Given the description of an element on the screen output the (x, y) to click on. 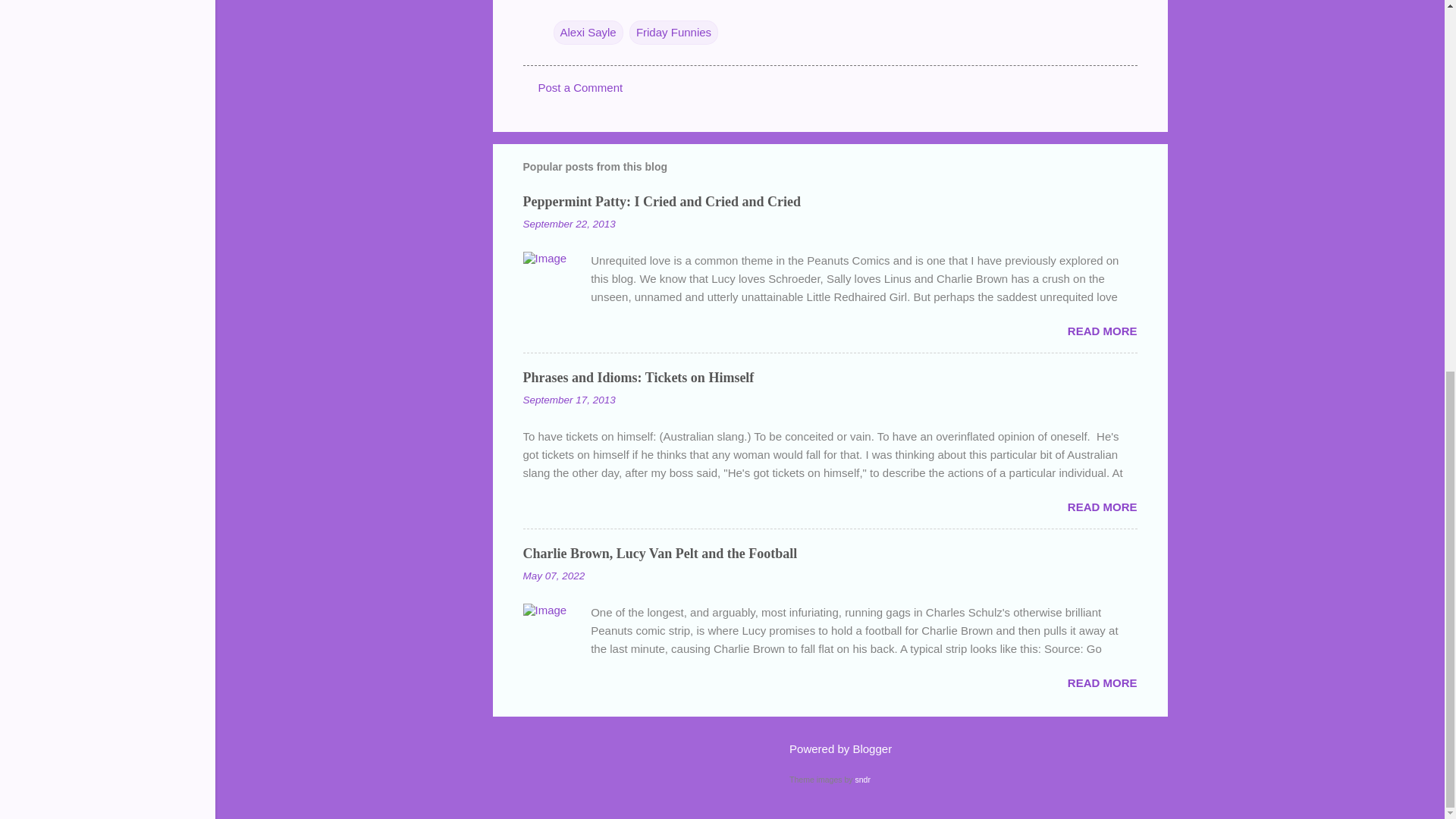
September 22, 2013 (568, 224)
Friday Funnies (672, 32)
READ MORE (1102, 330)
READ MORE (1102, 682)
READ MORE (1102, 506)
Peppermint Patty: I Cried and Cried and Cried (661, 201)
Phrases and Idioms: Tickets on Himself (638, 377)
Alexi Sayle (588, 32)
Post a Comment (580, 87)
permanent link (568, 224)
